Given the description of an element on the screen output the (x, y) to click on. 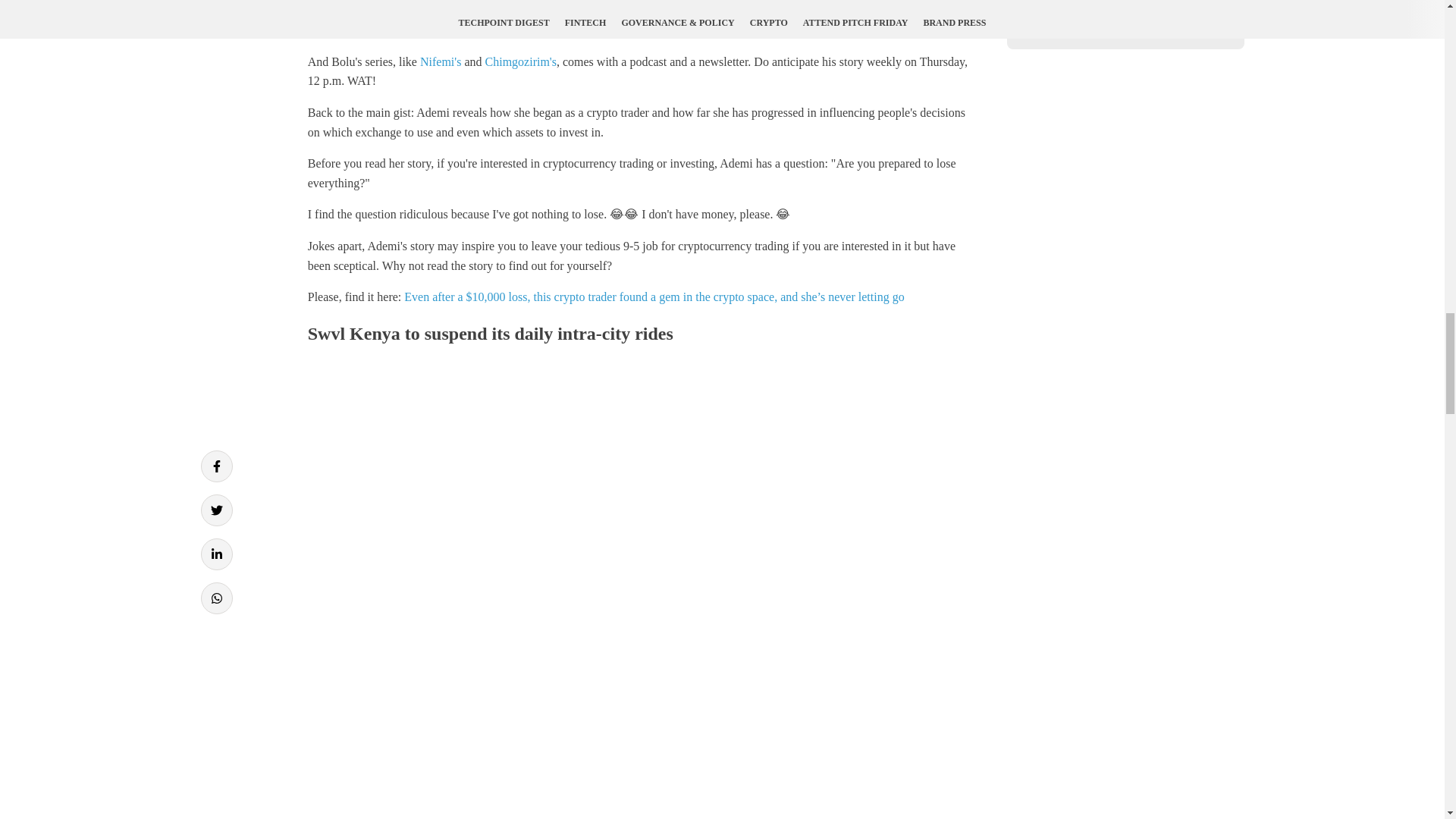
Chimgozirim's (520, 61)
Nifemi's (440, 61)
